Given the description of an element on the screen output the (x, y) to click on. 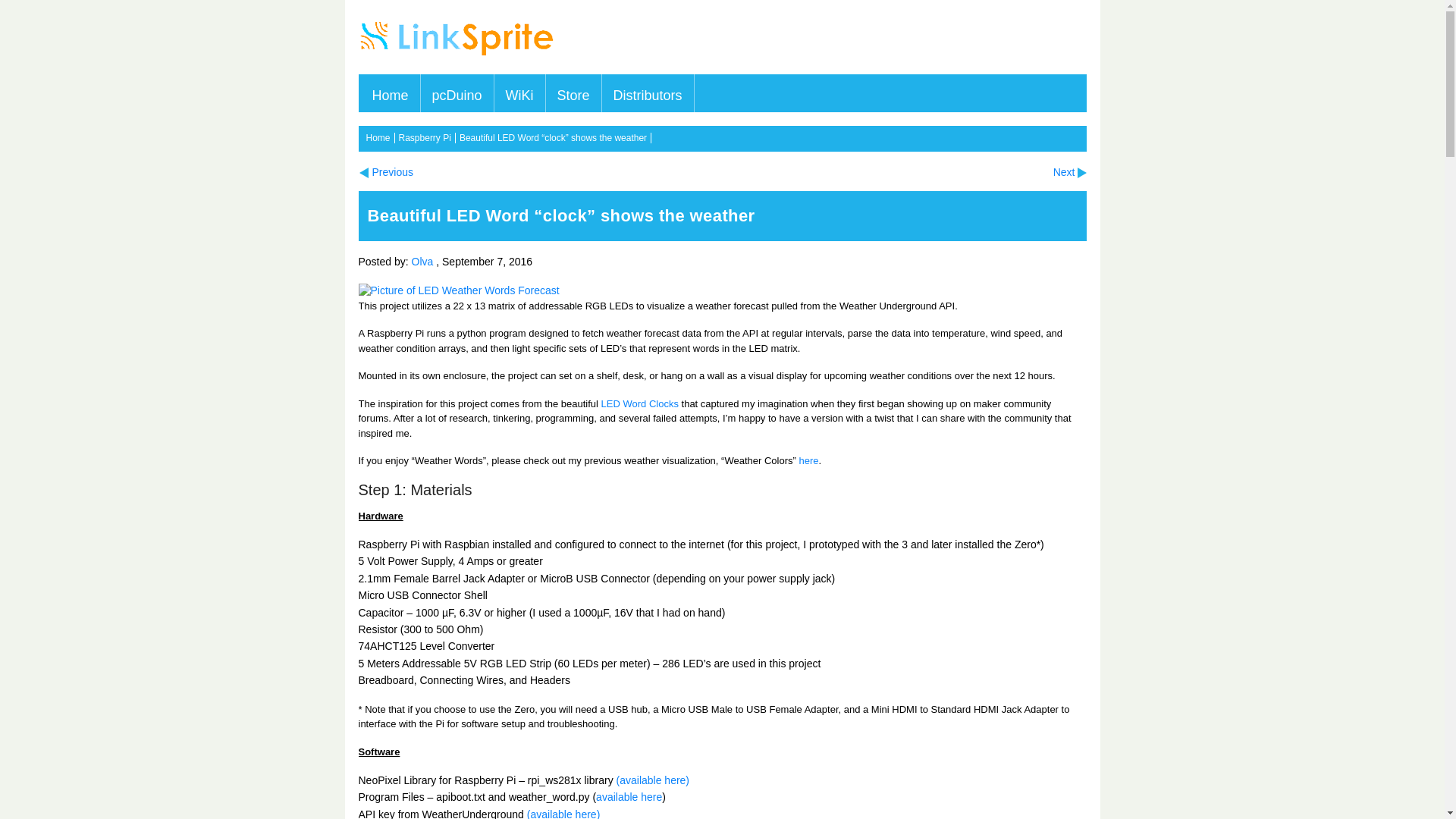
Store (573, 85)
Home (390, 85)
here (807, 460)
Olva (422, 260)
Previous (385, 172)
Next (1069, 172)
pcDuino (456, 85)
LED Word Clocks (639, 402)
Home (379, 137)
Distributors (648, 85)
available here (628, 797)
Raspberry Pi (426, 137)
WiKi (519, 85)
LinkSprite Learning Center (457, 58)
